Given the description of an element on the screen output the (x, y) to click on. 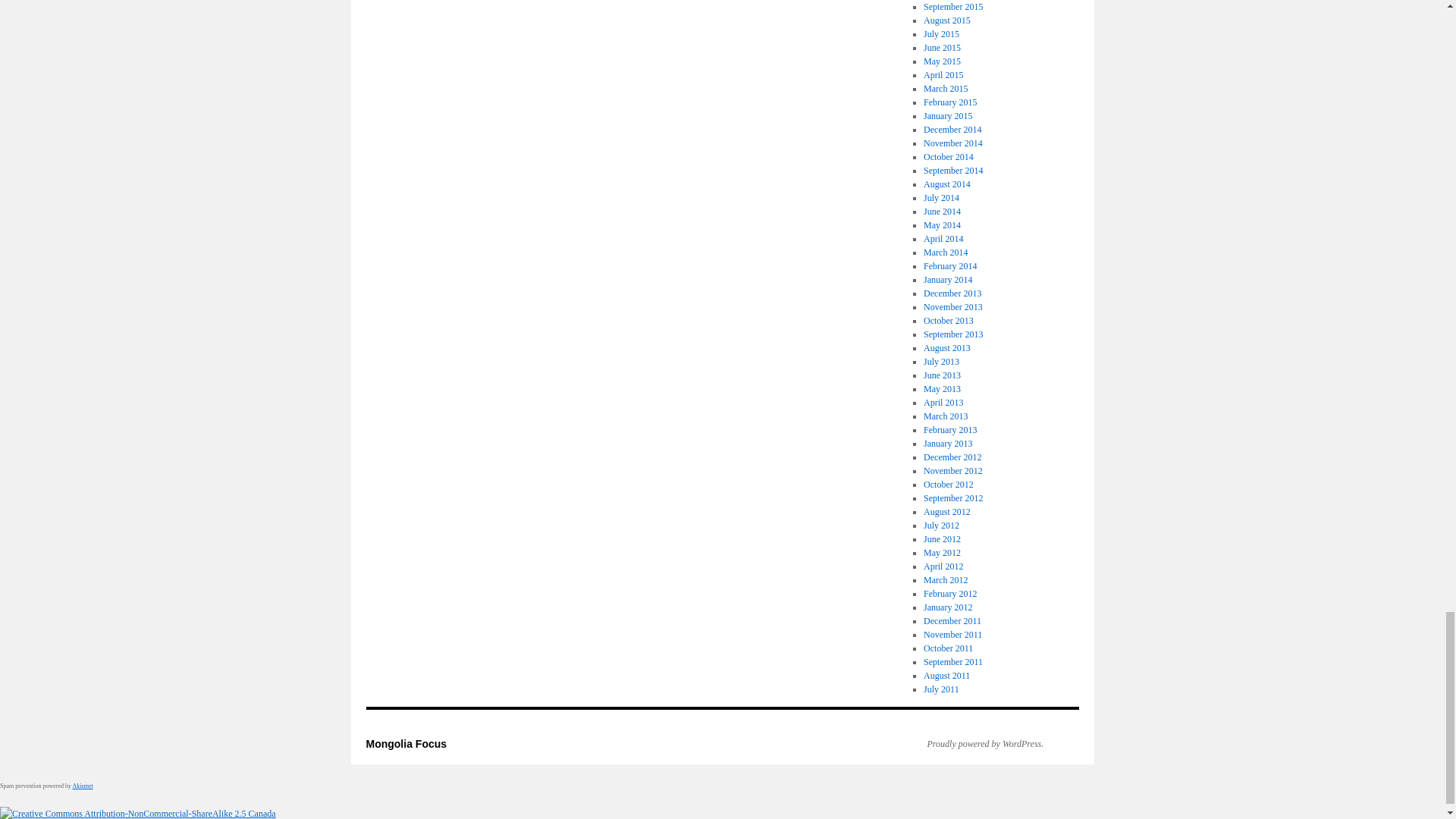
Semantic Personal Publishing Platform (977, 743)
Mongolia Focus (405, 743)
